Given the description of an element on the screen output the (x, y) to click on. 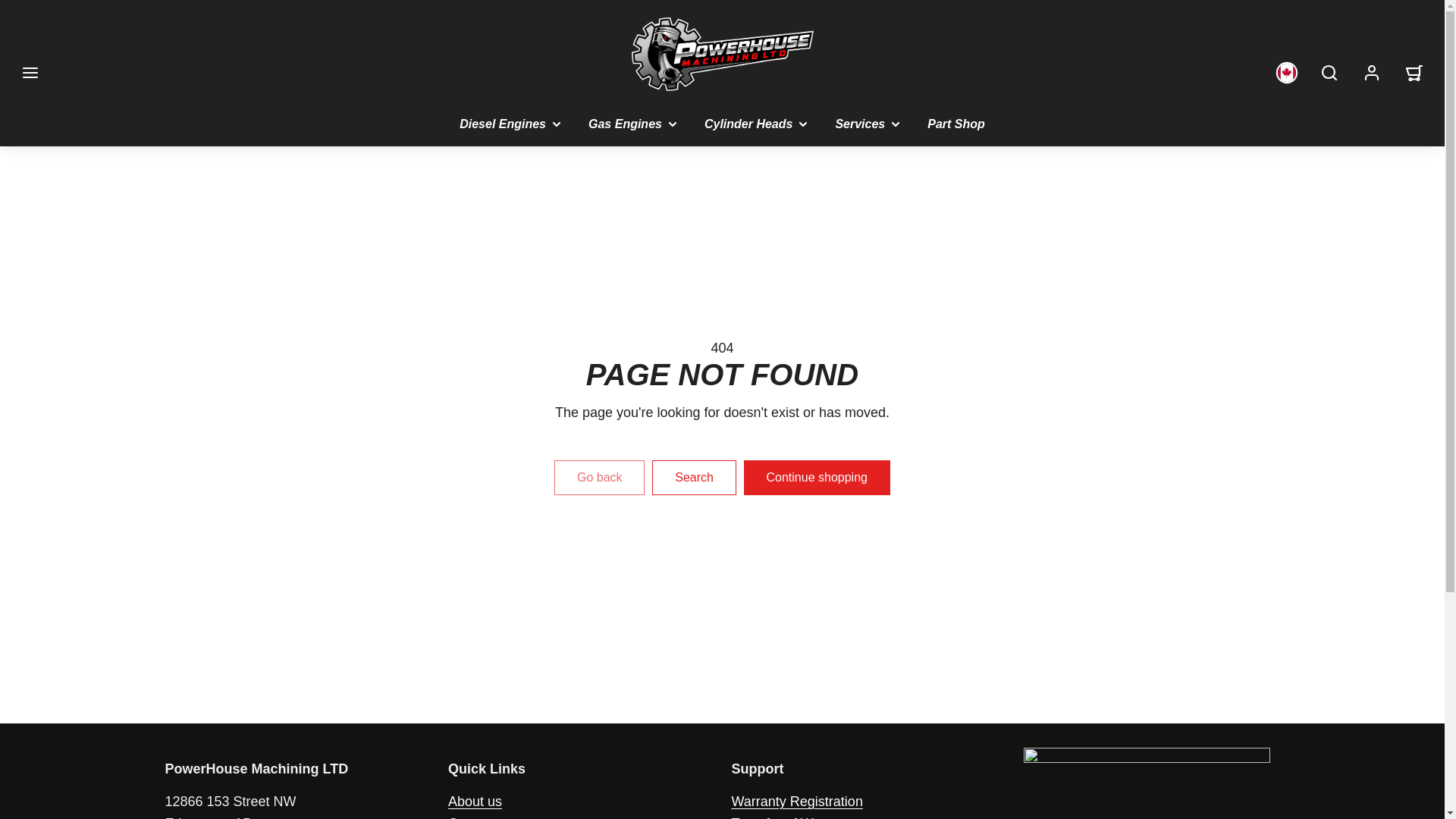
Services (868, 124)
Menu (29, 72)
Gas Engines (633, 124)
Diesel Engines (511, 124)
Search (1329, 72)
Part Shop (956, 124)
Cylinder Heads (757, 124)
Account (1372, 72)
